Given the description of an element on the screen output the (x, y) to click on. 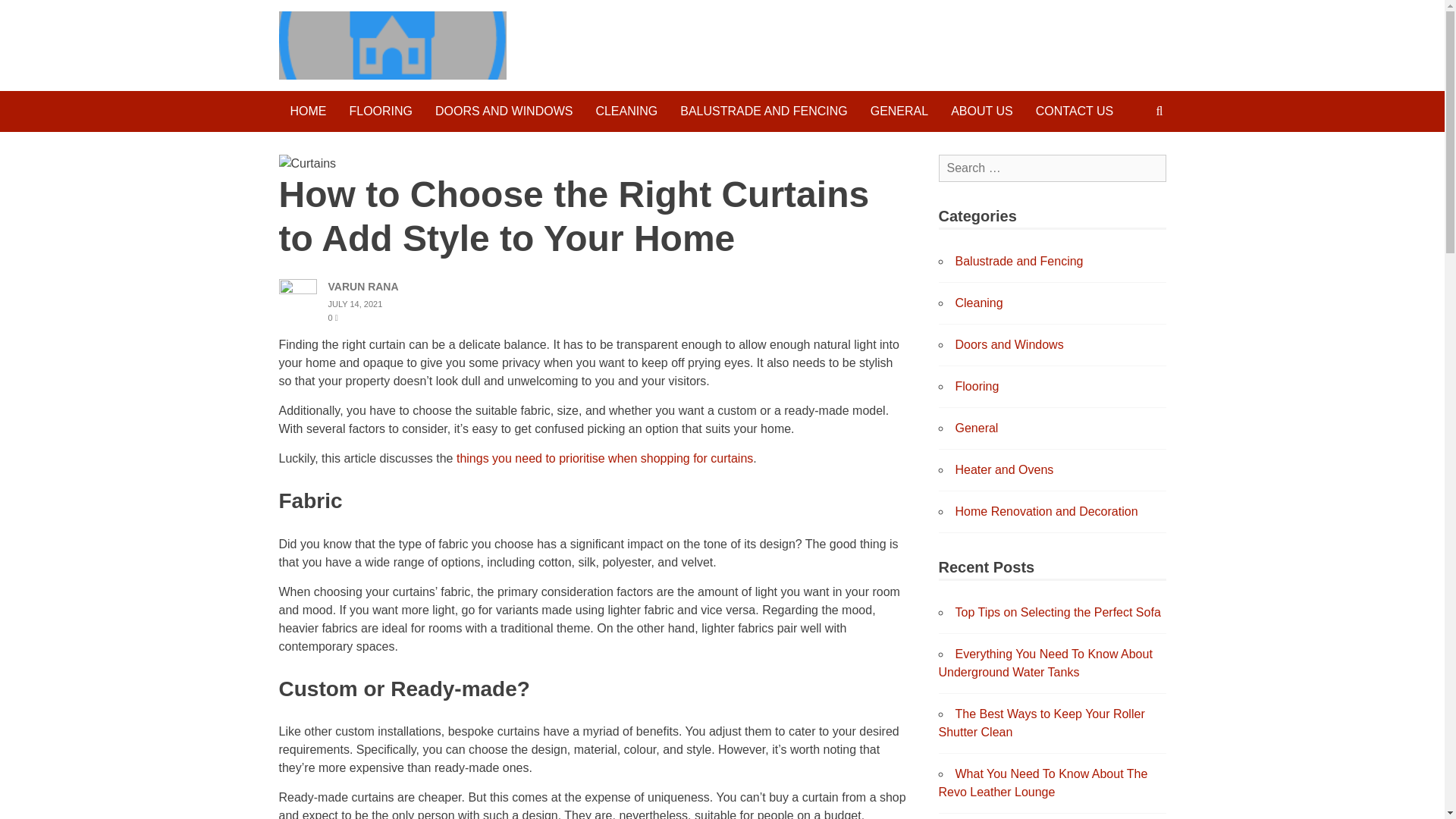
General (976, 427)
Everything You Need To Know About Underground Water Tanks (1046, 662)
VARUN RANA (362, 286)
Search (30, 15)
Heater and Ovens (1004, 469)
HOME (308, 110)
Home Renovation and Decoration (1046, 511)
DOORS AND WINDOWS (503, 110)
CONTACT US (1075, 110)
0 (332, 317)
BALUSTRADE AND FENCING (763, 110)
things you need to prioritise when shopping for curtains (604, 458)
FLOORING (381, 110)
Flooring (976, 386)
